Given the description of an element on the screen output the (x, y) to click on. 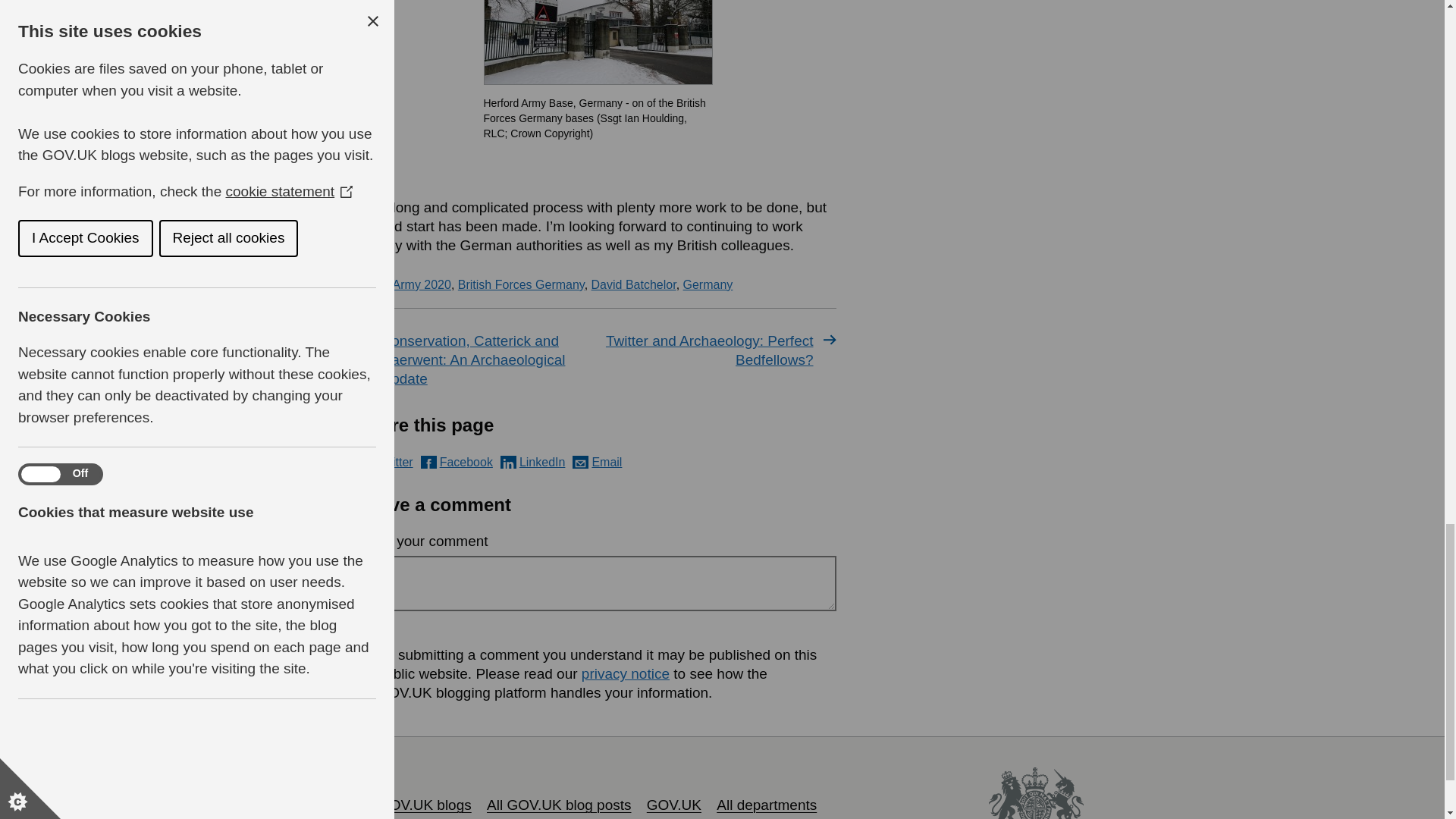
LinkedIn (533, 461)
Email (596, 461)
British Forces Germany (521, 284)
David Batchelor (634, 284)
Twitter and Archaeology: Perfect Bedfellows? (718, 350)
Army 2020 (422, 284)
Germany (707, 284)
privacy notice (624, 673)
Facebook (456, 461)
Twitter (385, 461)
